Given the description of an element on the screen output the (x, y) to click on. 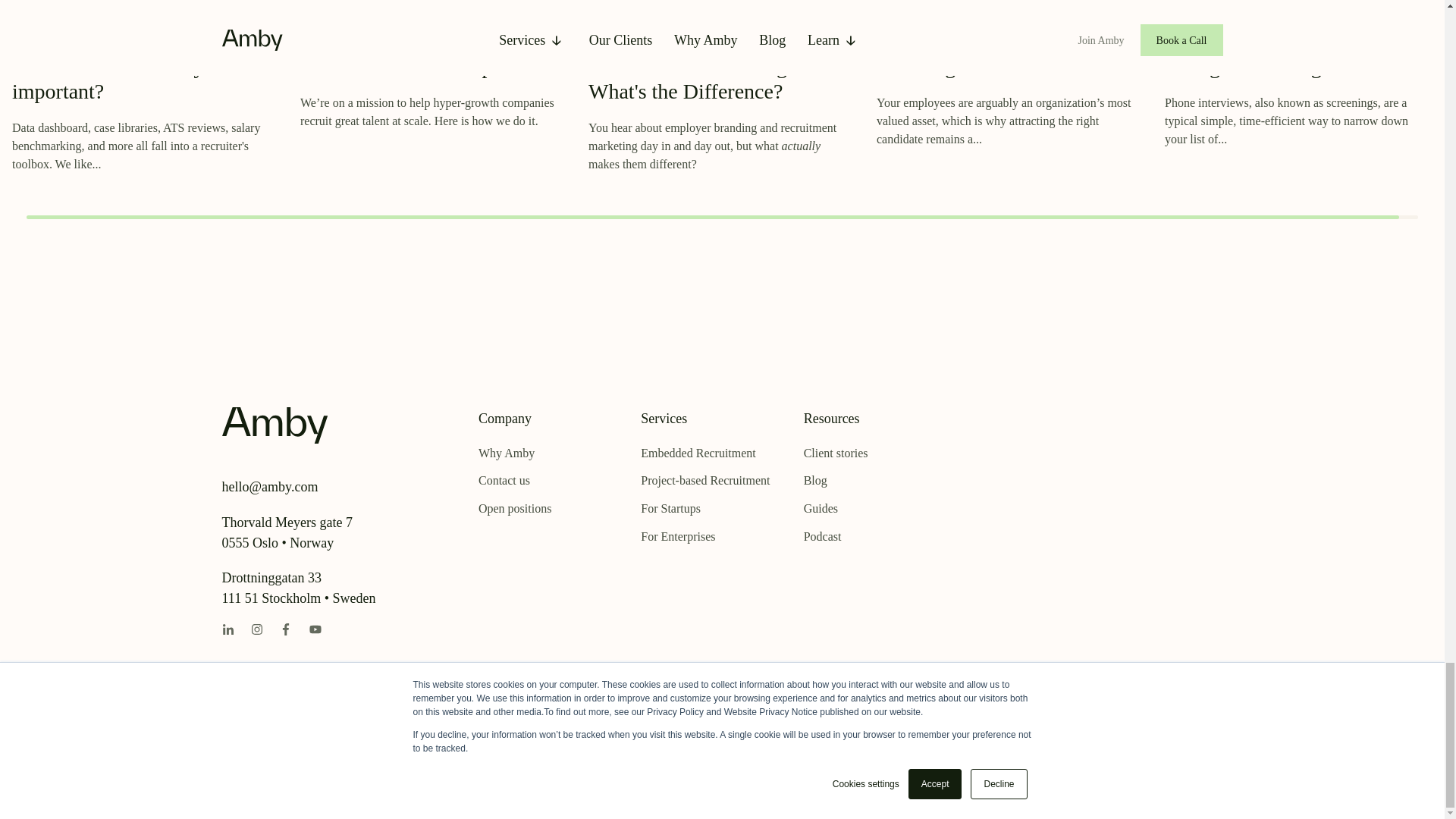
The Case for Employer Branding (975, 52)
Questions to ask candidates during a screening call (1281, 52)
Questions to ask candidates during a screening call (1281, 52)
How we work: the embedded recruitment model explained (424, 52)
How we work: the embedded recruitment model explained (424, 52)
The Case for Employer Branding (975, 52)
What is recruitment infrastructure and why is it important? (126, 65)
Absolut theme logo (274, 425)
What is recruitment infrastructure and why is it important? (126, 65)
